Given the description of an element on the screen output the (x, y) to click on. 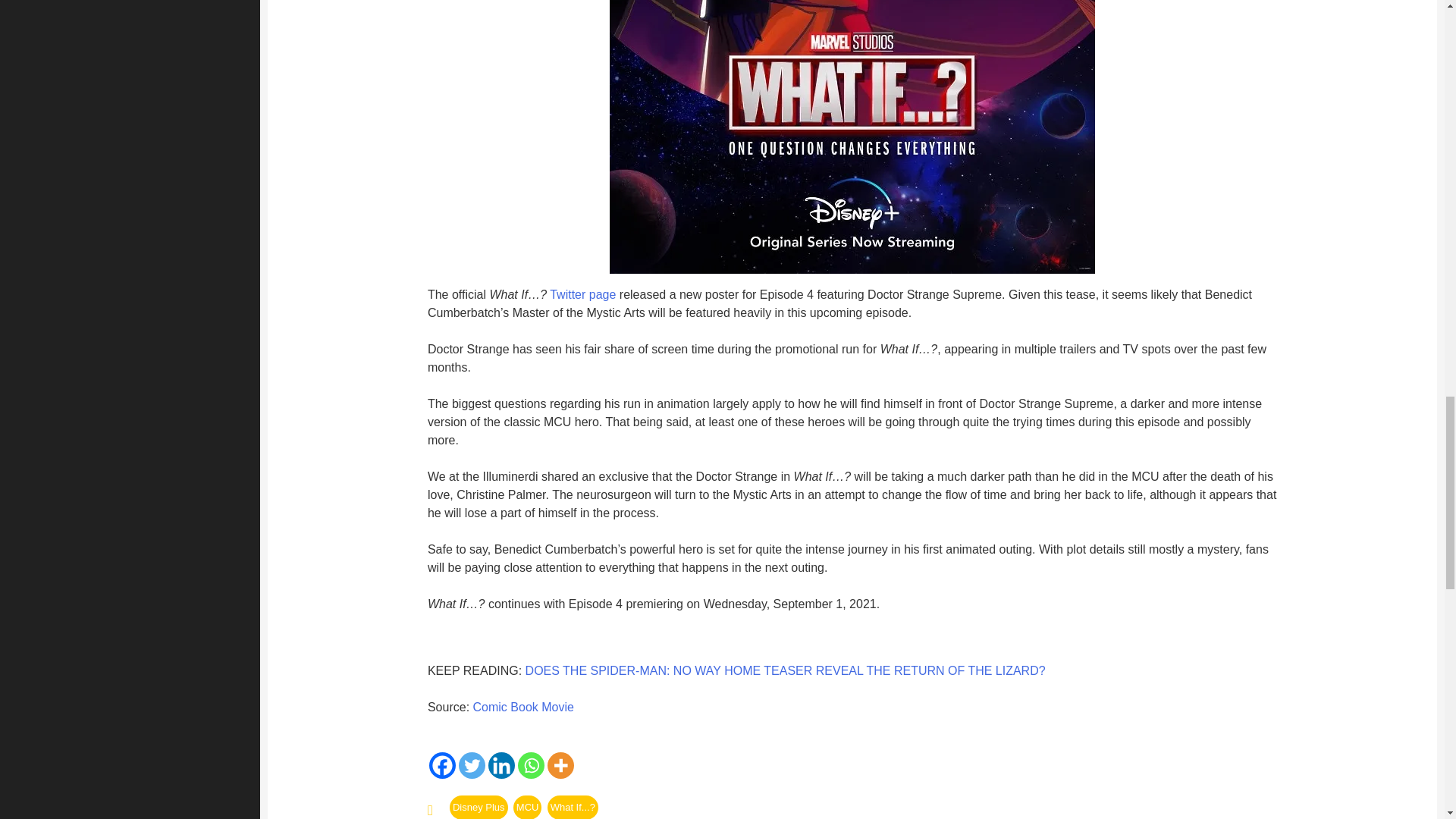
More (560, 765)
Whatsapp (531, 765)
Linkedin (501, 765)
Twitter (471, 765)
Facebook (442, 765)
